Given the description of an element on the screen output the (x, y) to click on. 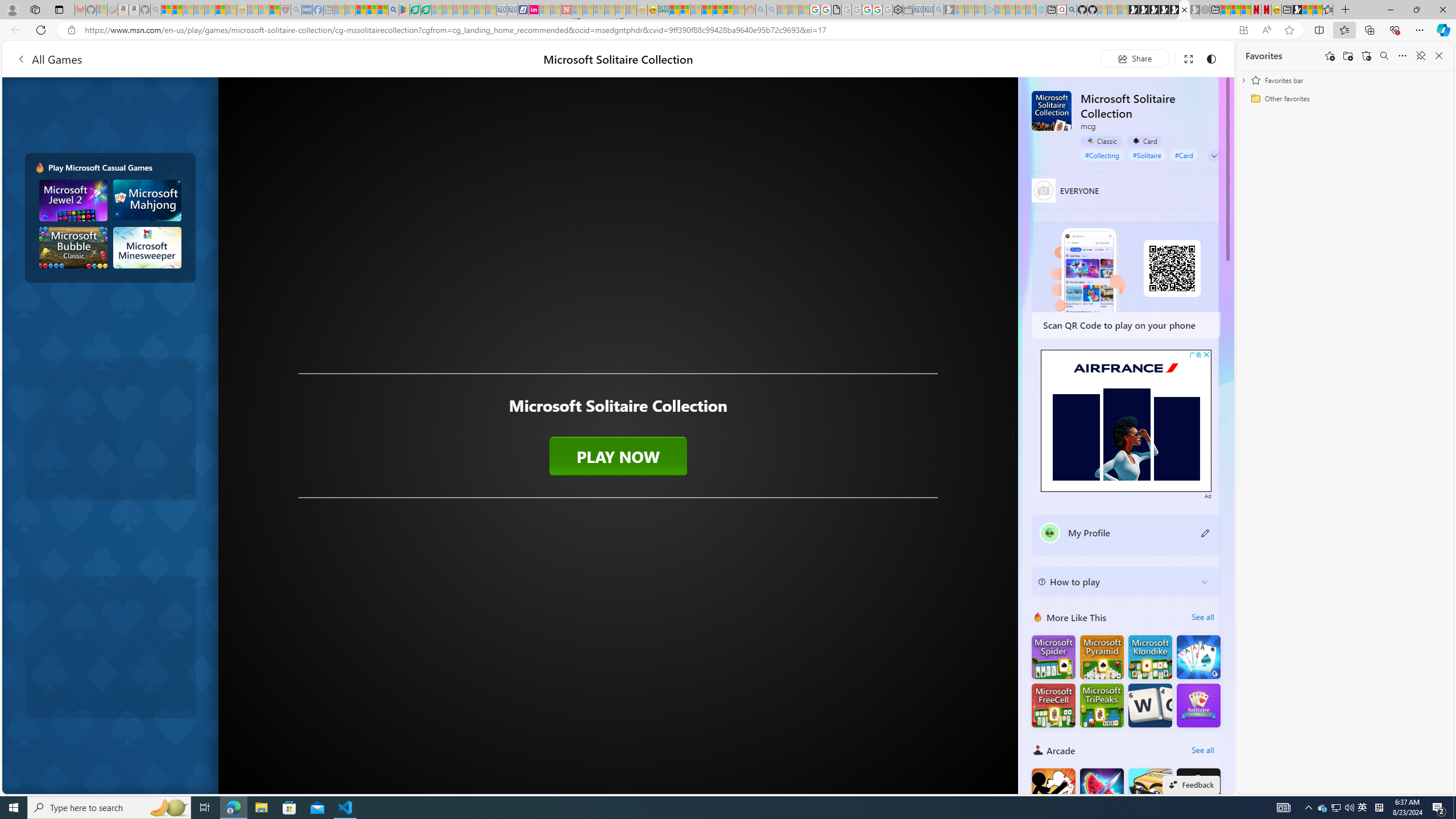
Microsoft-Report a Concern to Bing - Sleeping (101, 9)
Expert Portfolios (707, 9)
Arcade (1037, 749)
Bing Real Estate - Home sales and rental listings - Sleeping (938, 9)
See all (1202, 750)
#Solitaire (1147, 155)
google_privacy_policy_zh-CN.pdf (836, 9)
The Weather Channel - MSN - Sleeping (187, 9)
